Given the description of an element on the screen output the (x, y) to click on. 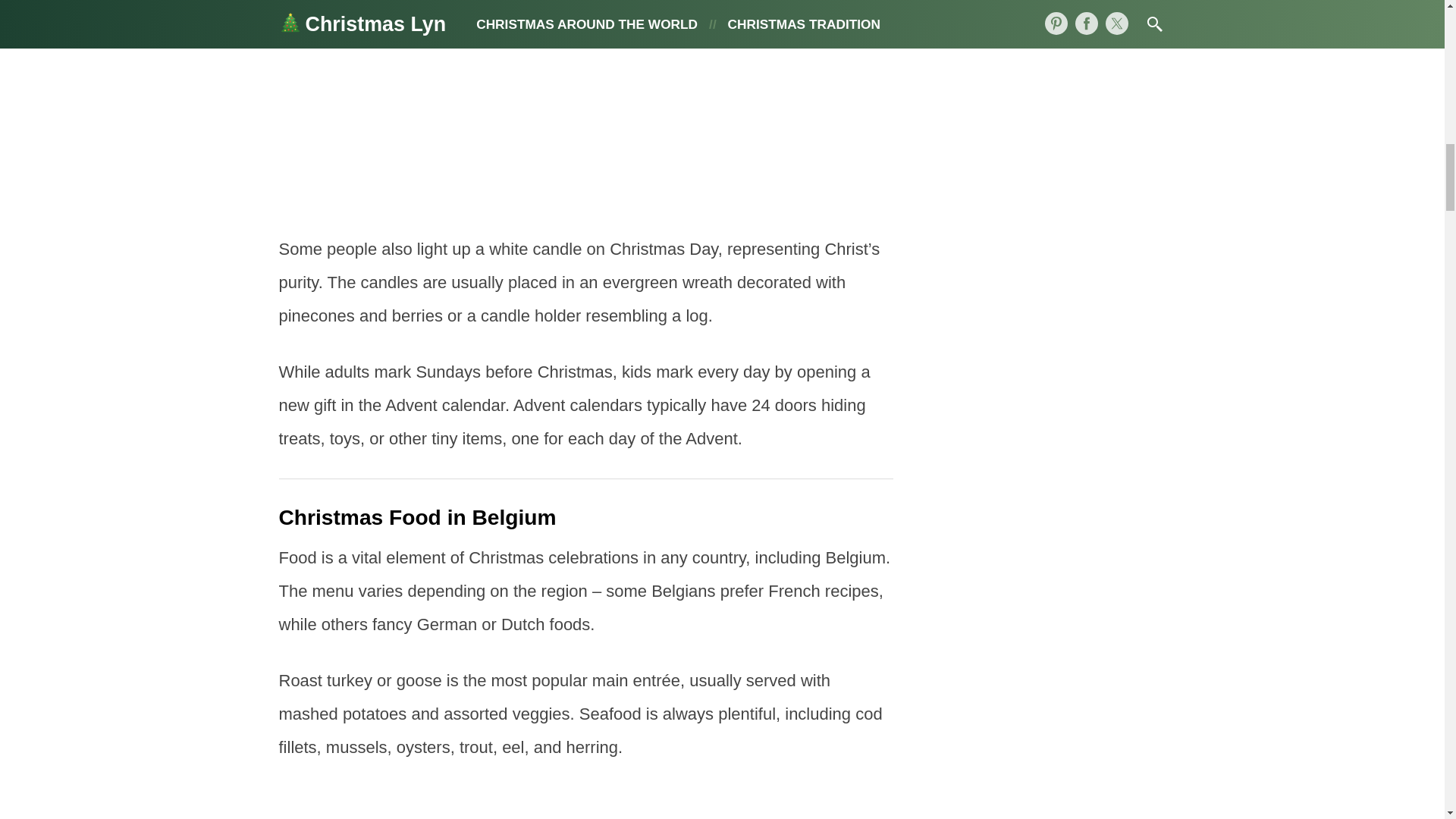
Advertisement (586, 104)
Advertisement (586, 803)
